Given the description of an element on the screen output the (x, y) to click on. 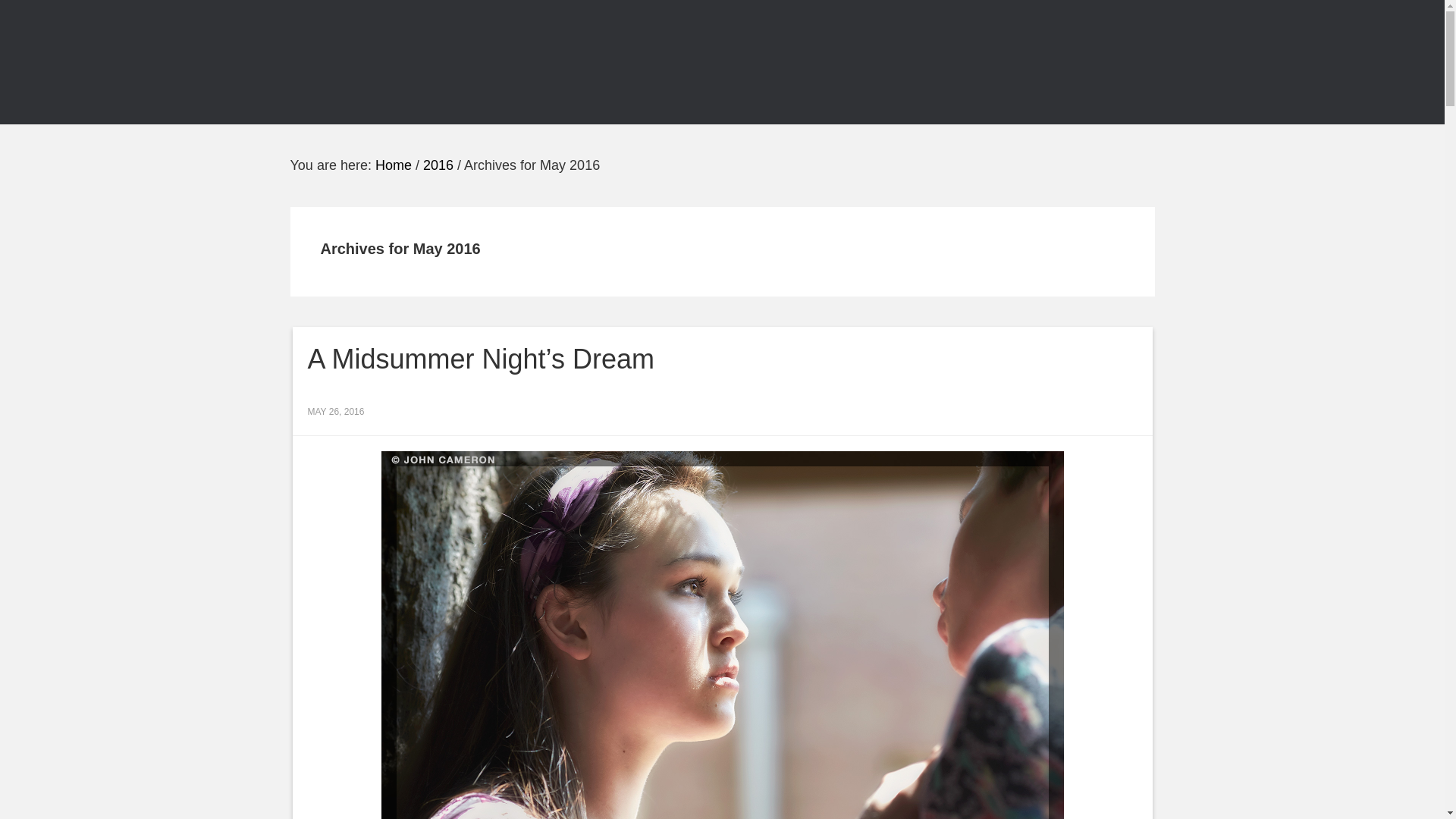
Salt Spring Photos (425, 62)
2016 (437, 165)
Home (393, 165)
